Given the description of an element on the screen output the (x, y) to click on. 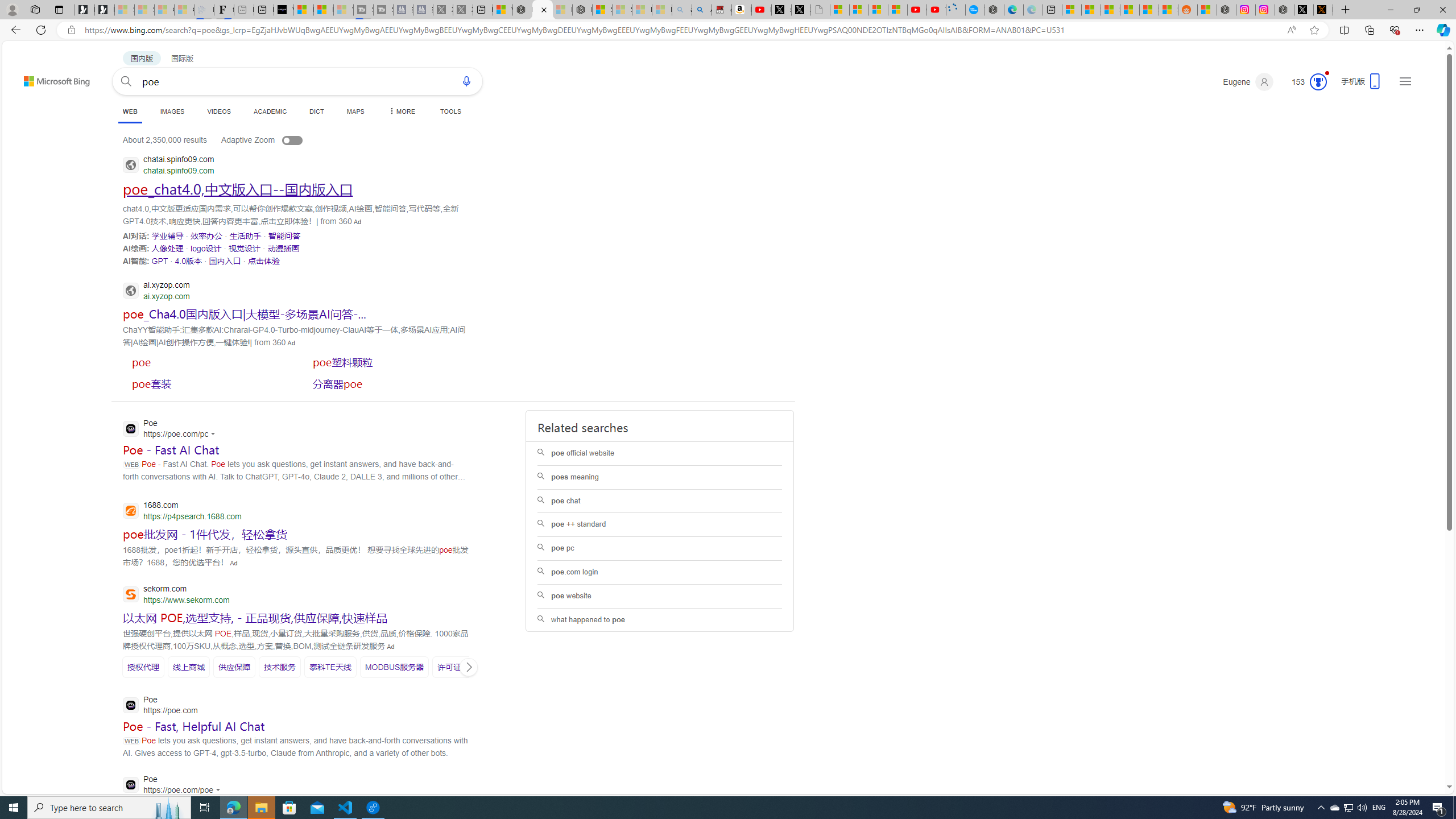
Shanghai, China hourly forecast | Microsoft Weather (1110, 9)
Search more (1423, 753)
Search button (126, 80)
Search (126, 80)
SERP,5582 (388, 362)
poe website (659, 595)
SERP,5569 (283, 248)
IMAGES (172, 111)
SERP,5568 (244, 248)
Poe - Fast, Helpful AI Chat (193, 726)
SERP,5565 (283, 235)
Read aloud this page (Ctrl+Shift+U) (1291, 29)
